Given the description of an element on the screen output the (x, y) to click on. 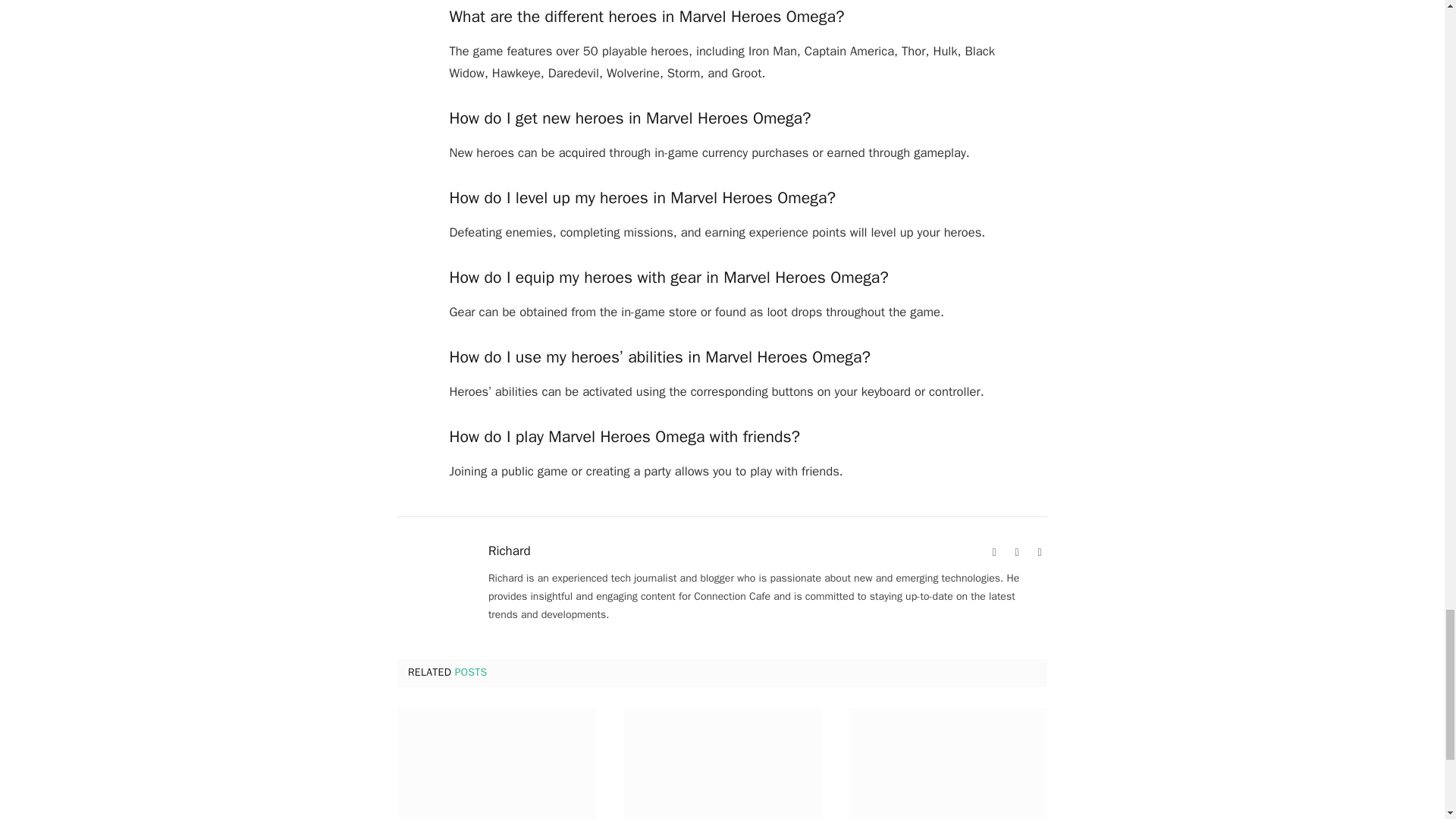
NBA 2K14 Server Status: Is it Working Fine? (722, 763)
Posts by Richard (509, 550)
Rocket League Server Status: Is it Working Fine? (496, 763)
Website (994, 552)
Farming Simulator 19 Server Status: Is it Working Fine? (947, 763)
Twitter (1039, 552)
Facebook (1017, 552)
